Given the description of an element on the screen output the (x, y) to click on. 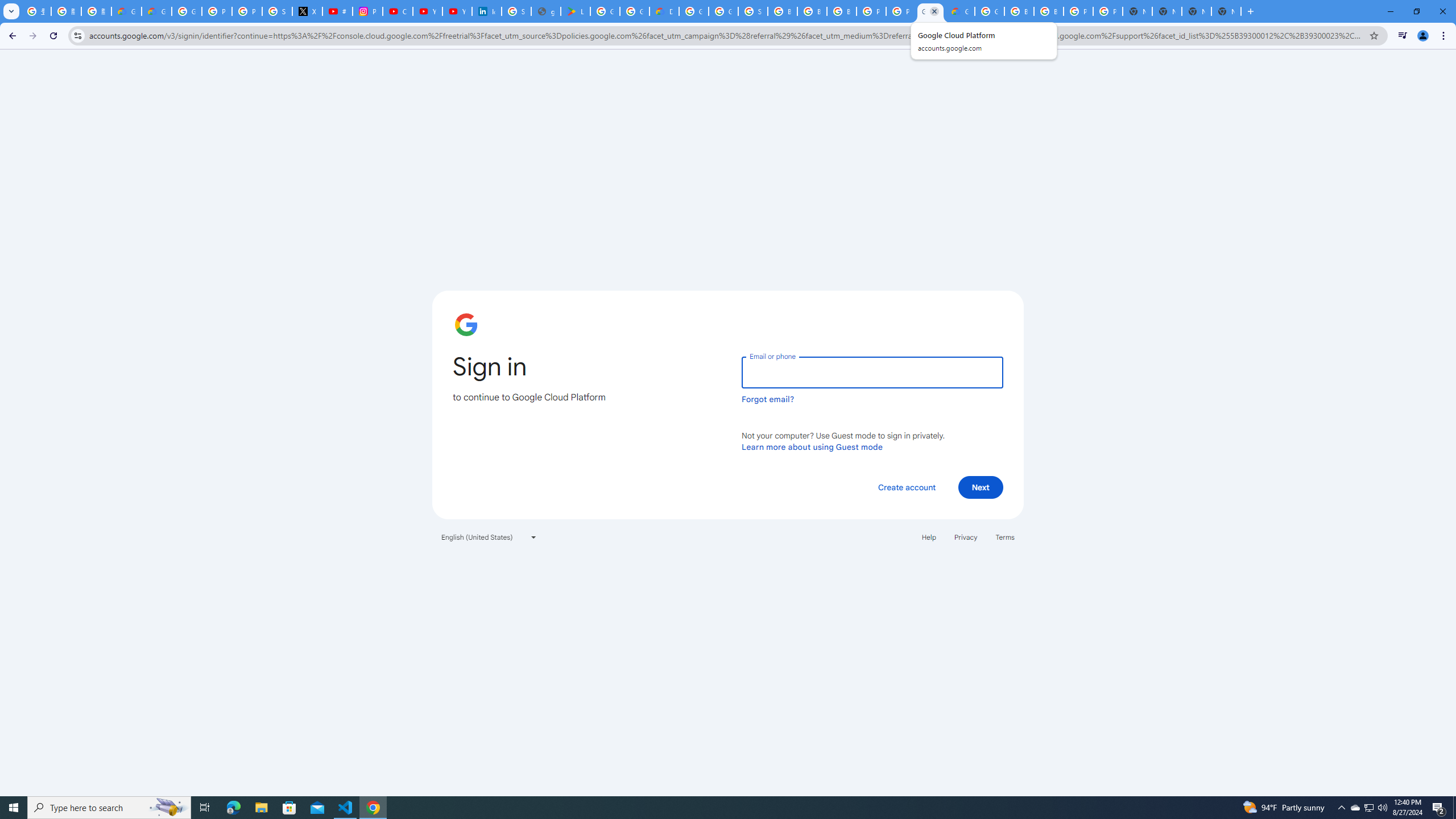
#nbabasketballhighlights - YouTube (337, 11)
Browse Chrome as a guest - Computer - Google Chrome Help (811, 11)
Google Cloud Platform (989, 11)
